Given the description of an element on the screen output the (x, y) to click on. 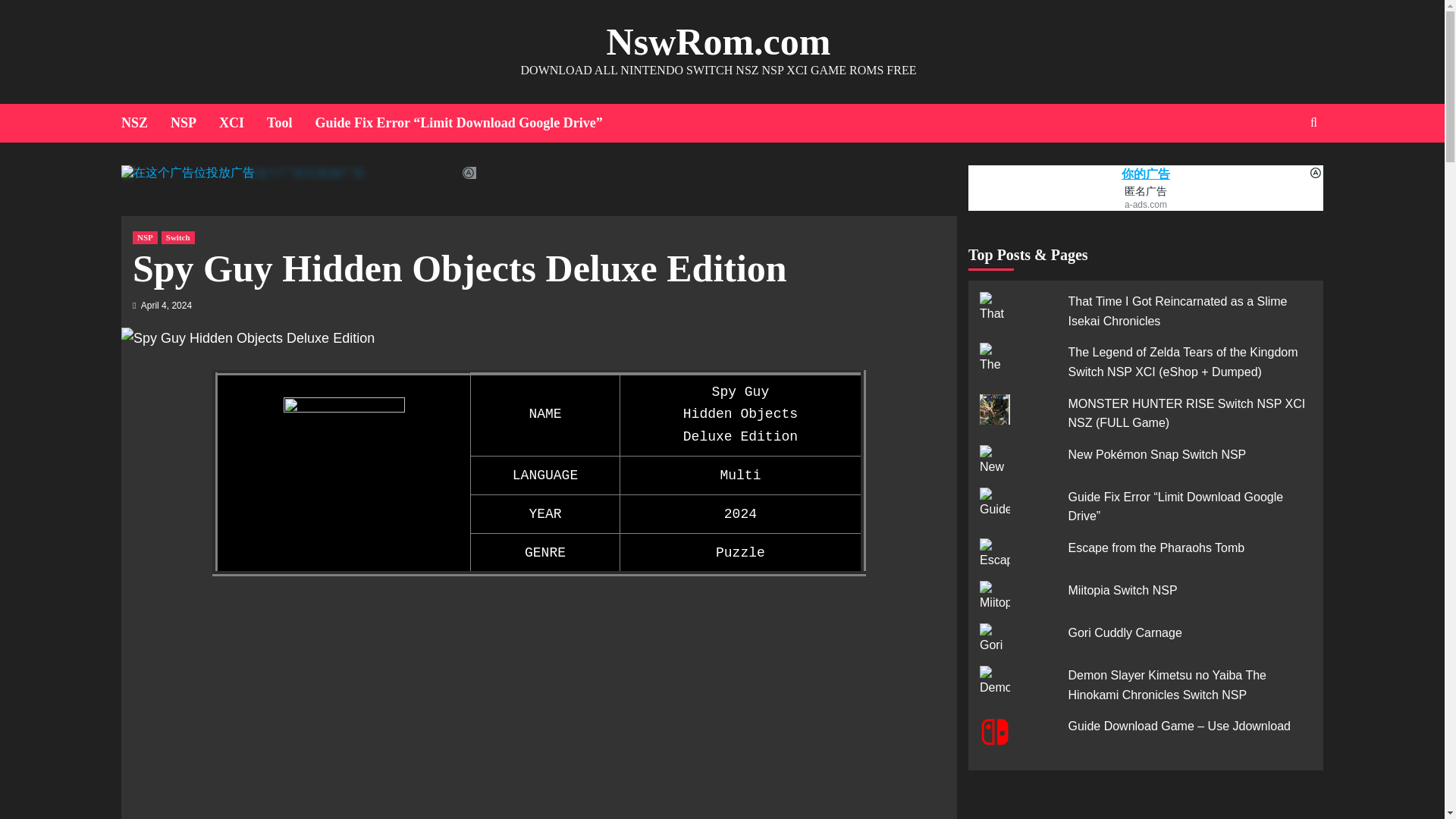
Tool (290, 123)
NswRom.com (719, 41)
April 4, 2024 (166, 305)
That Time I Got Reincarnated as a Slime Isekai Chronicles (1177, 310)
NSP (144, 237)
Switch (178, 237)
NSP (194, 123)
NSZ (145, 123)
Search (1278, 170)
XCI (242, 123)
